Given the description of an element on the screen output the (x, y) to click on. 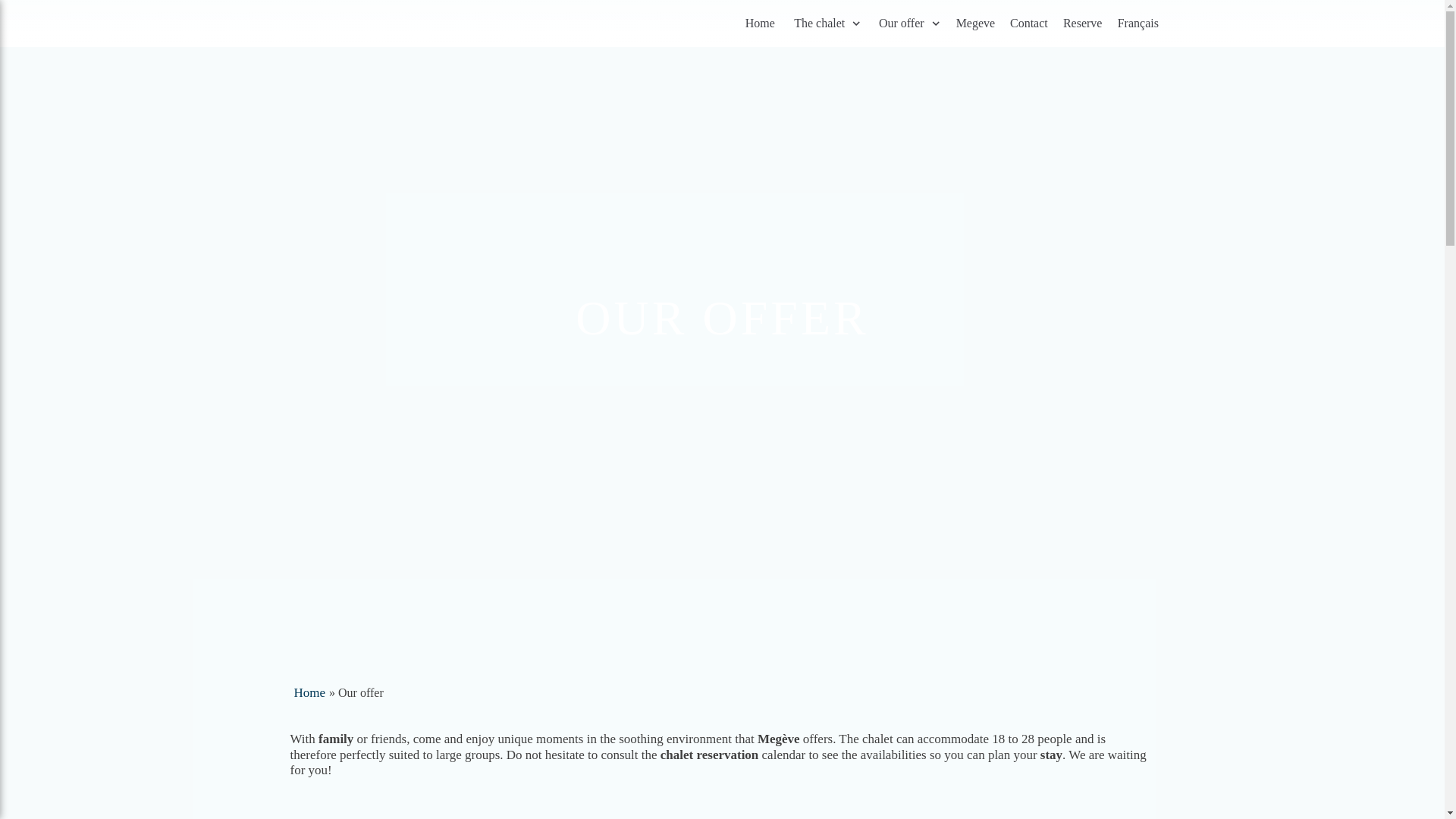
Our offer (904, 23)
Home (756, 23)
The chalet (821, 23)
Reserve (1078, 23)
Contact (1025, 23)
Home (310, 700)
Megeve (971, 23)
